Given the description of an element on the screen output the (x, y) to click on. 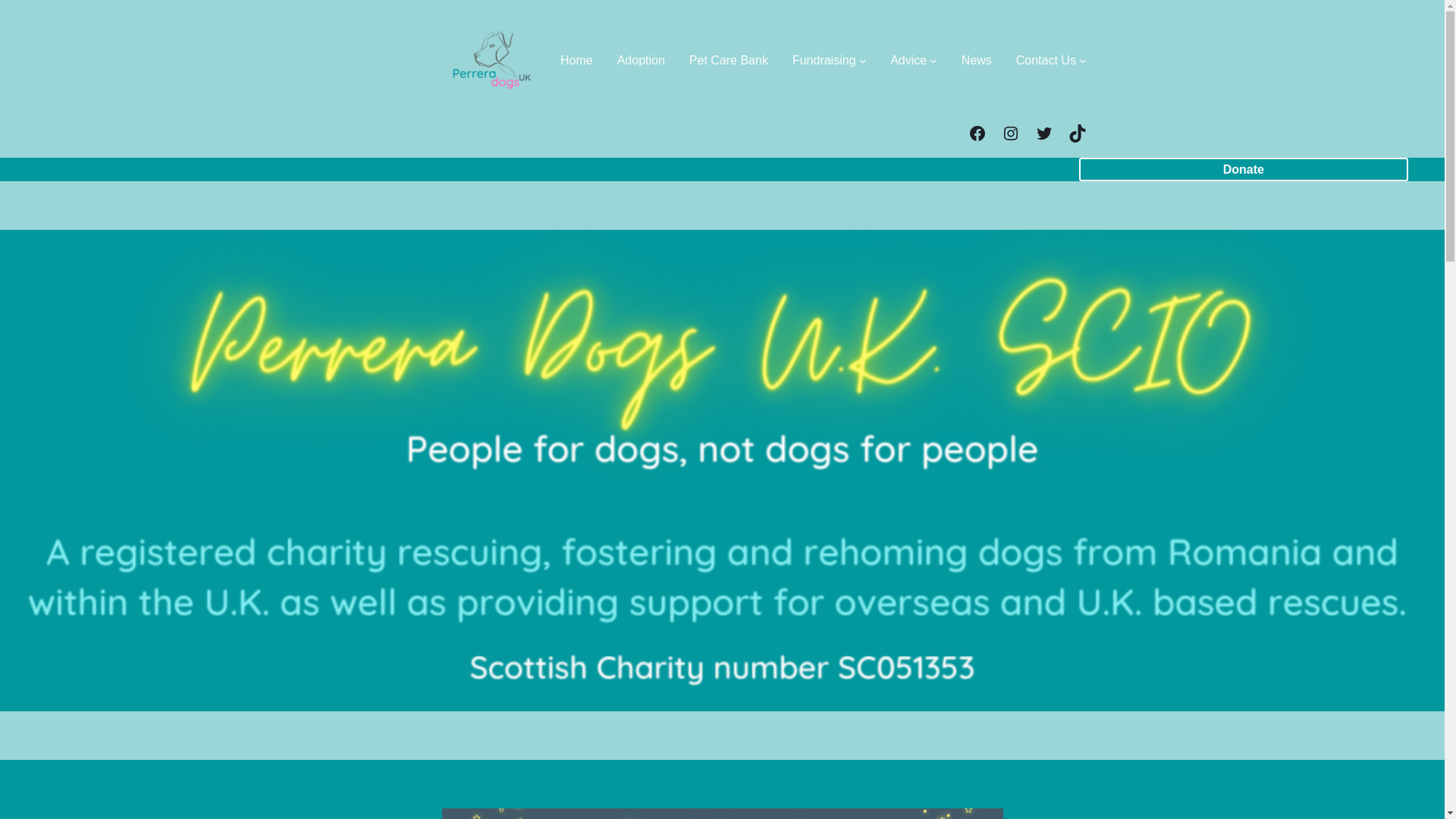
Donate (1242, 169)
Home (576, 59)
Instagram (1010, 133)
Contact Us (1045, 59)
Fundraising (824, 59)
Twitter (1042, 133)
Adoption (641, 59)
Facebook (976, 133)
Advice (907, 59)
News (975, 59)
TikTok (1076, 133)
Pet Care Bank (728, 59)
